Given the description of an element on the screen output the (x, y) to click on. 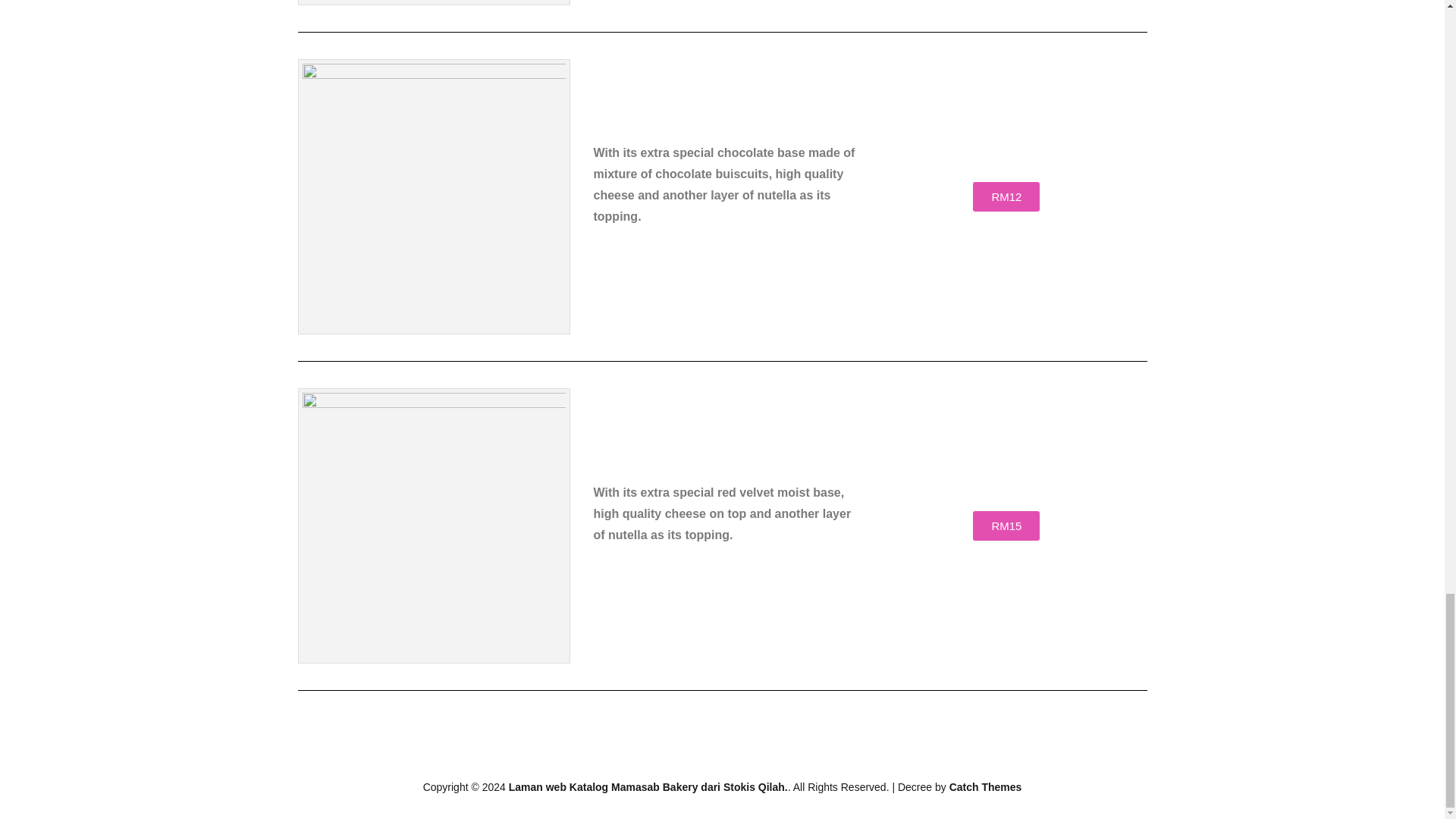
RM12 (1005, 196)
RM15 (1005, 525)
Catch Themes (985, 787)
Laman web Katalog Mamasab Bakery dari Stokis Qilah. (647, 787)
